Given the description of an element on the screen output the (x, y) to click on. 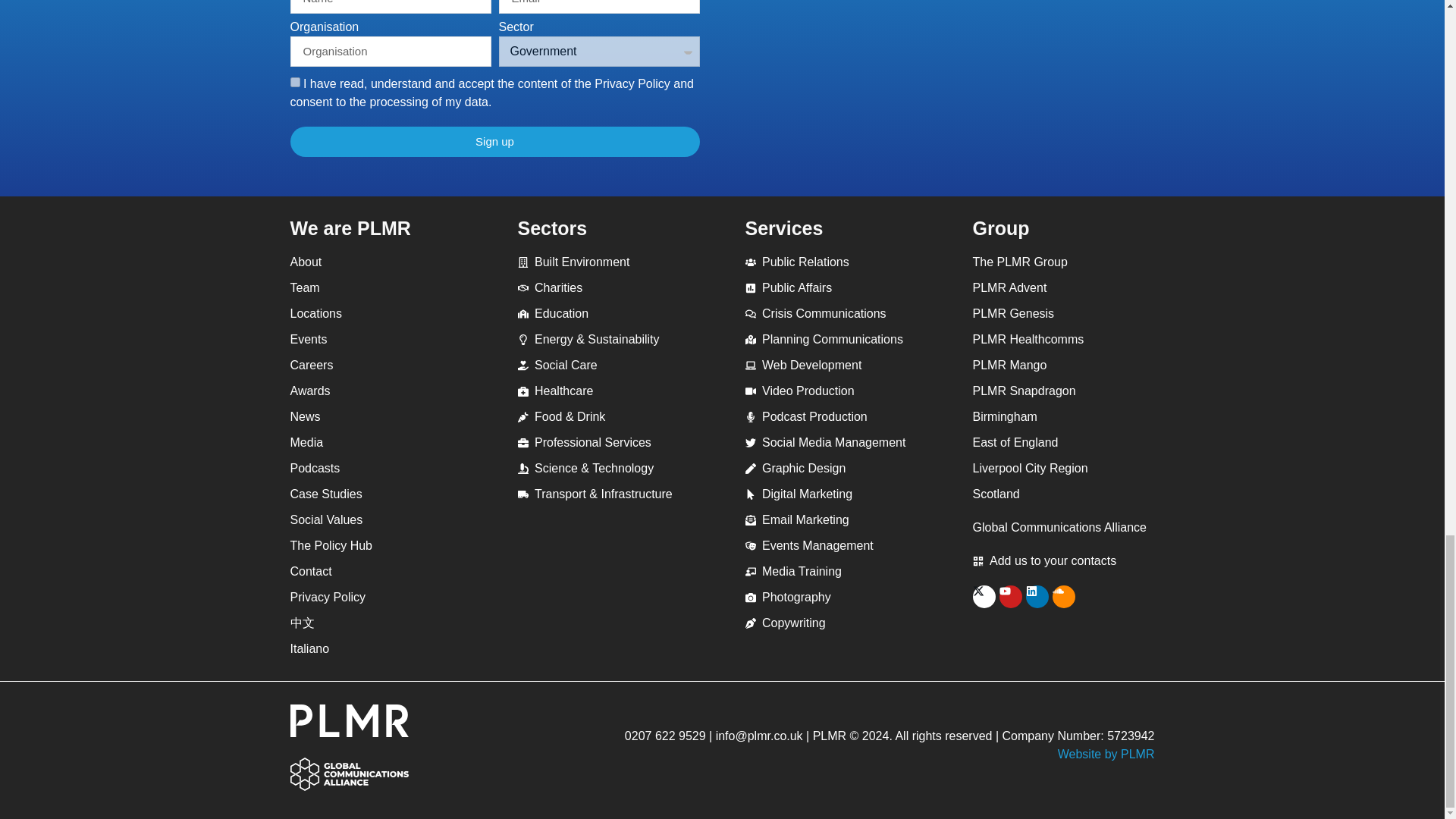
Sign up (493, 141)
Contact (380, 571)
The Policy Hub (380, 546)
News (380, 416)
Media (380, 443)
on (294, 81)
Locations (380, 313)
Social Values (380, 520)
Case Studies (380, 494)
About (380, 262)
